Given the description of an element on the screen output the (x, y) to click on. 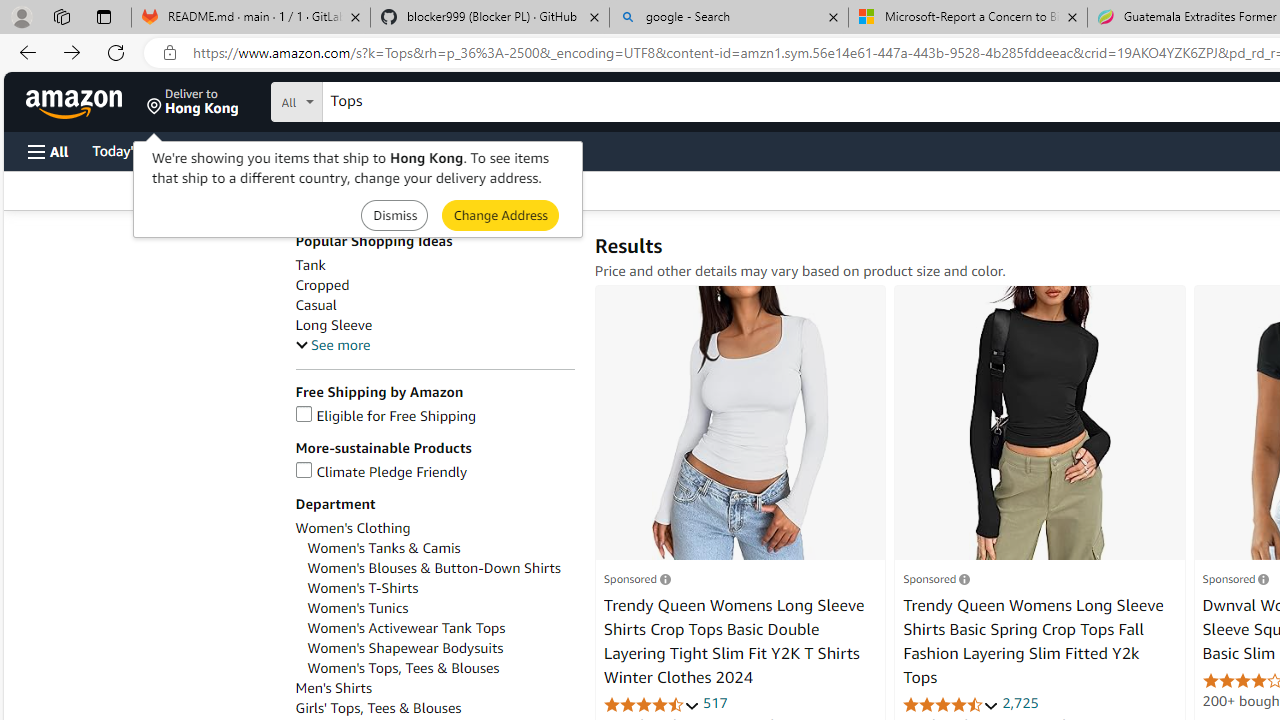
Women's T-Shirts (362, 588)
Casual (434, 304)
Submit (499, 214)
Women's Tops, Tees & Blouses (403, 668)
Casual (315, 305)
Eligible for Free Shipping (385, 416)
Girls' Tops, Tees & Blouses (378, 708)
Girls' Tops, Tees & Blouses (434, 708)
Customer Service (256, 150)
Climate Pledge Friendly (434, 471)
